Given the description of an element on the screen output the (x, y) to click on. 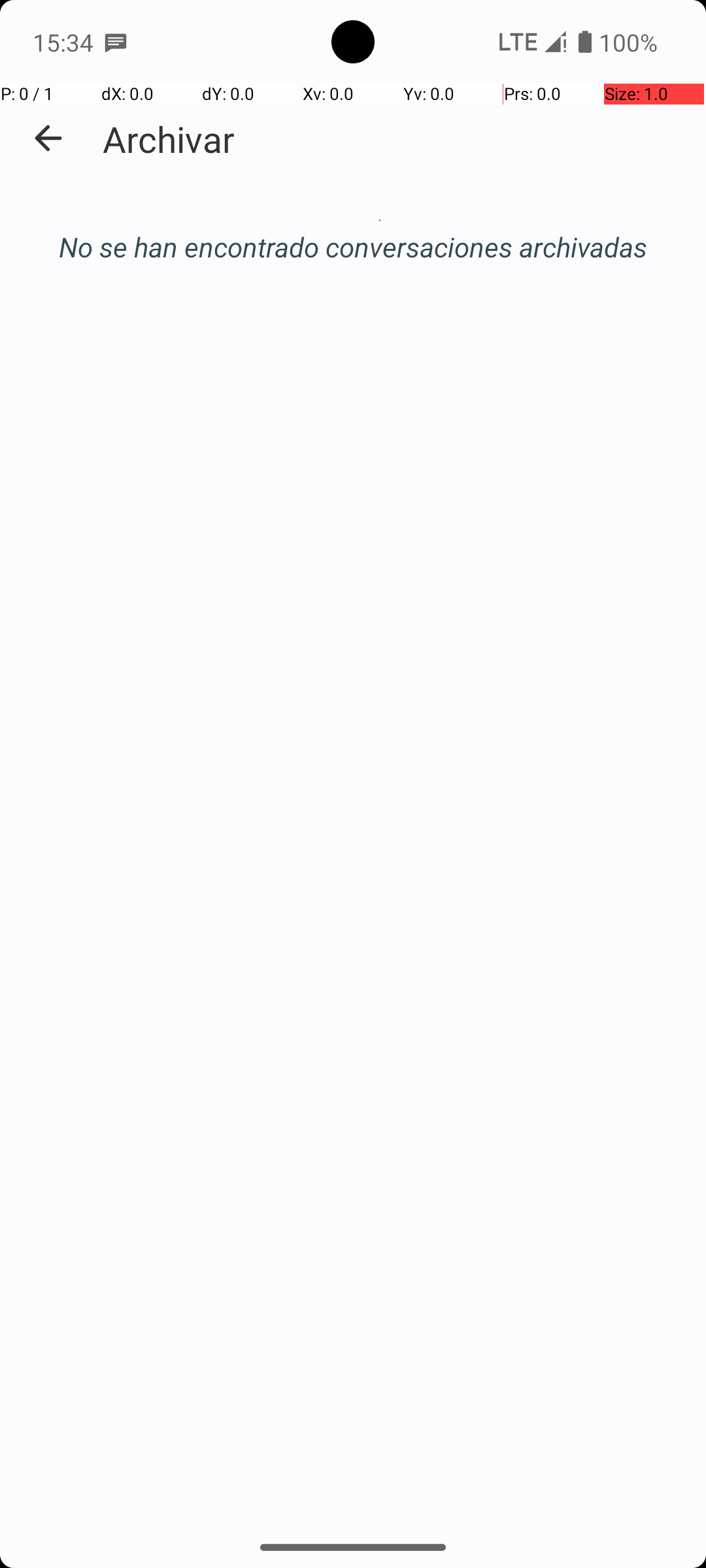
Atrás Element type: android.widget.ImageButton (48, 138)
Archivar Element type: android.widget.TextView (168, 138)
No se han encontrado conversaciones archivadas Element type: android.widget.TextView (353, 246)
